Given the description of an element on the screen output the (x, y) to click on. 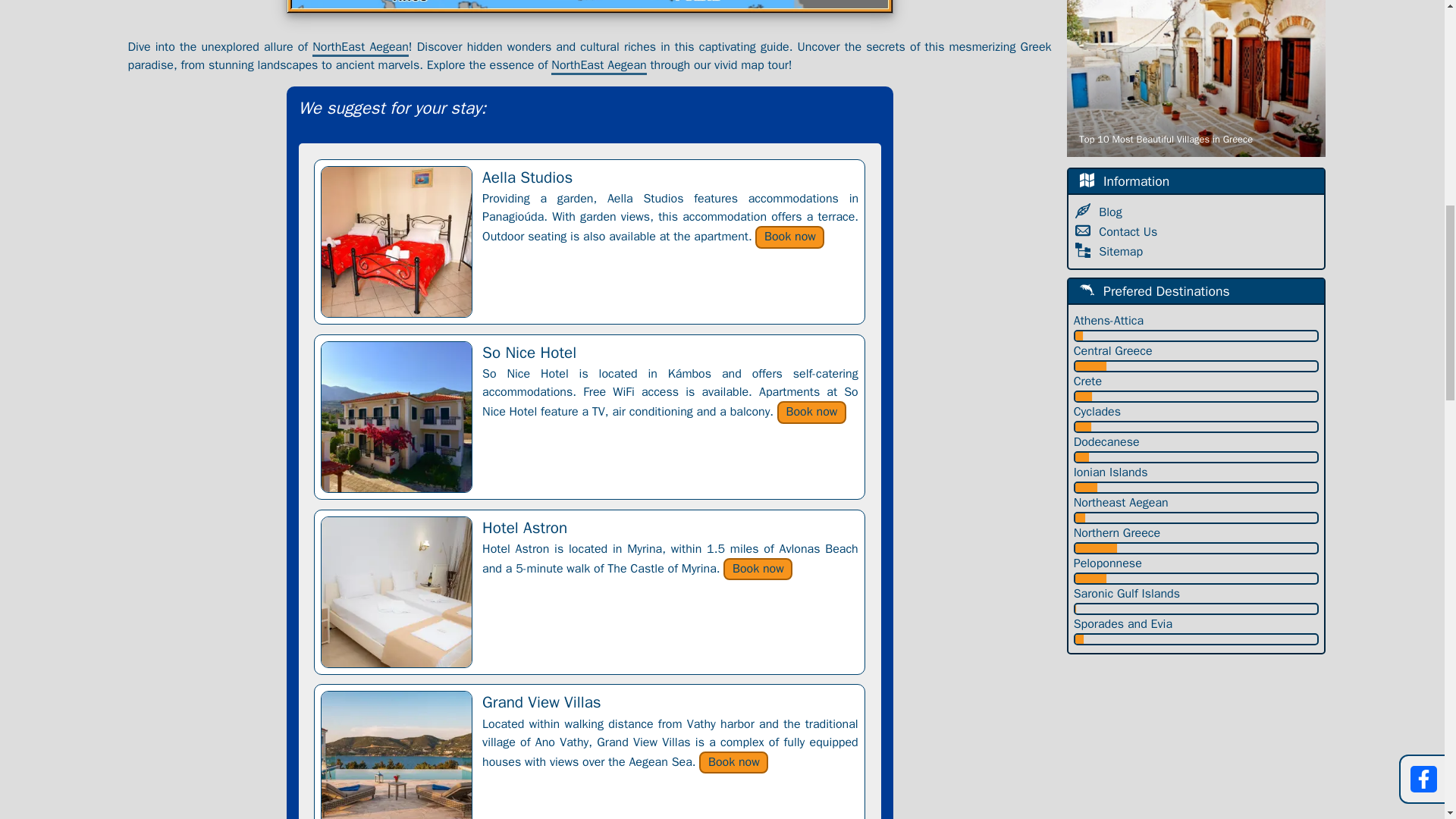
Ionian Islands (1196, 472)
Blog (1112, 212)
Athens-Attica (1196, 321)
Northeast Aegean (1196, 502)
Contact Us (1129, 231)
NorthEast Aegean (361, 47)
Dodecanese (1196, 442)
Cyclades (1196, 411)
Crete (1196, 381)
Top 10 Most Beautiful Villages in Greece (1195, 79)
Central Greece (1196, 351)
NorthEast Aegean (598, 66)
Top 10 Most Beautiful Villages in Greece (1195, 79)
Sitemap (1123, 251)
